Given the description of an element on the screen output the (x, y) to click on. 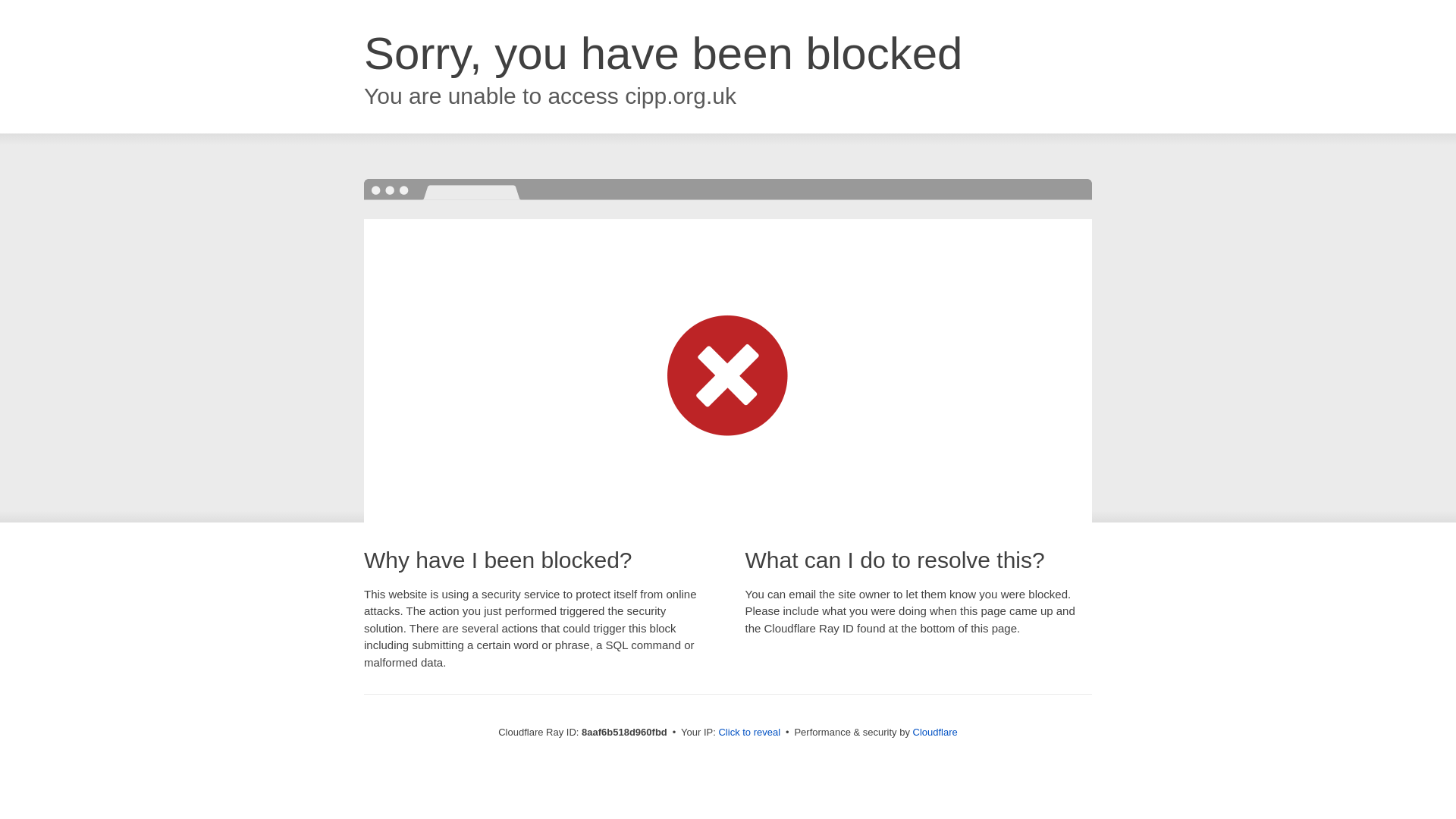
Click to reveal (748, 732)
Cloudflare (935, 731)
